Given the description of an element on the screen output the (x, y) to click on. 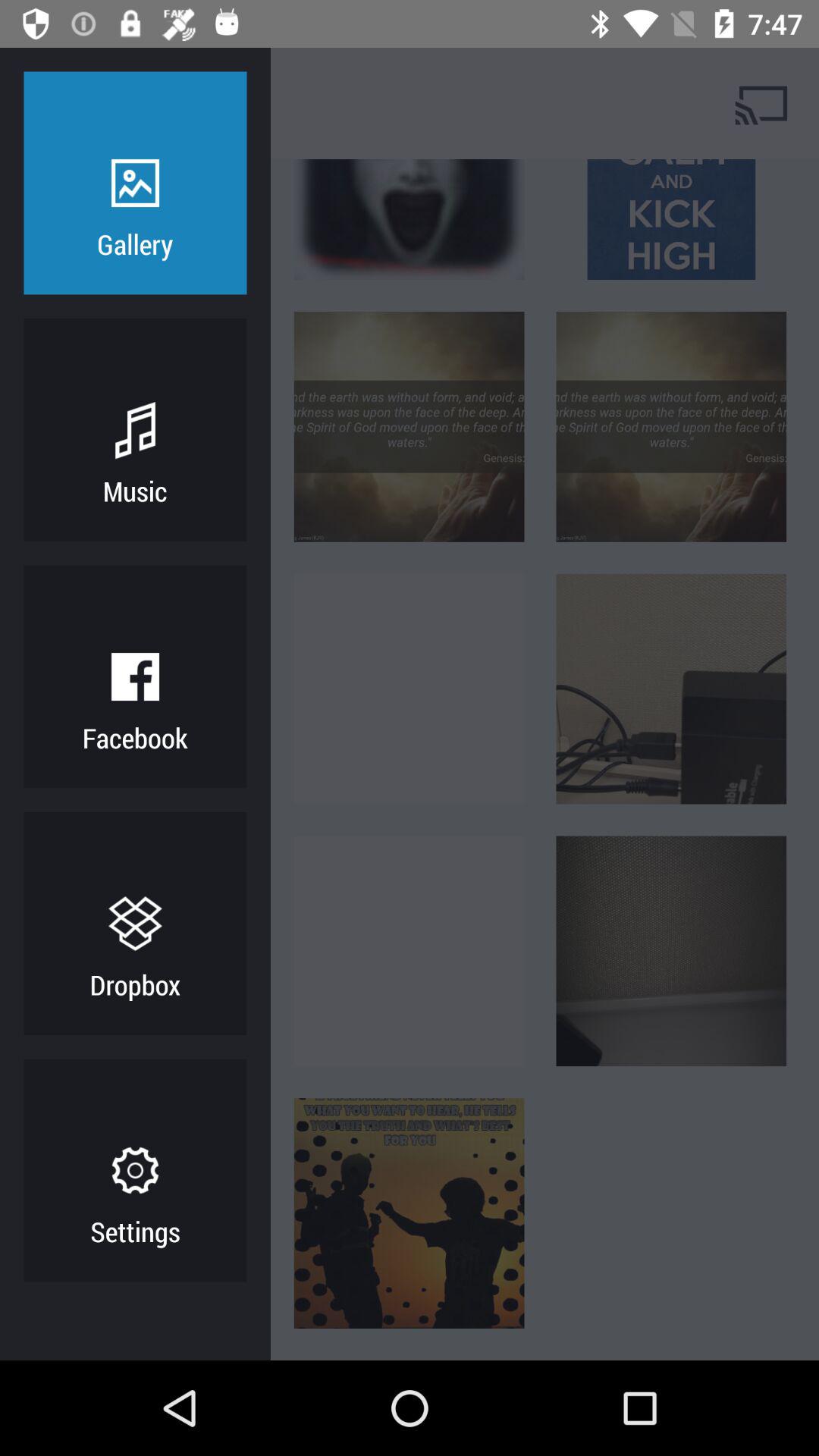
launch the music item (134, 490)
